Given the description of an element on the screen output the (x, y) to click on. 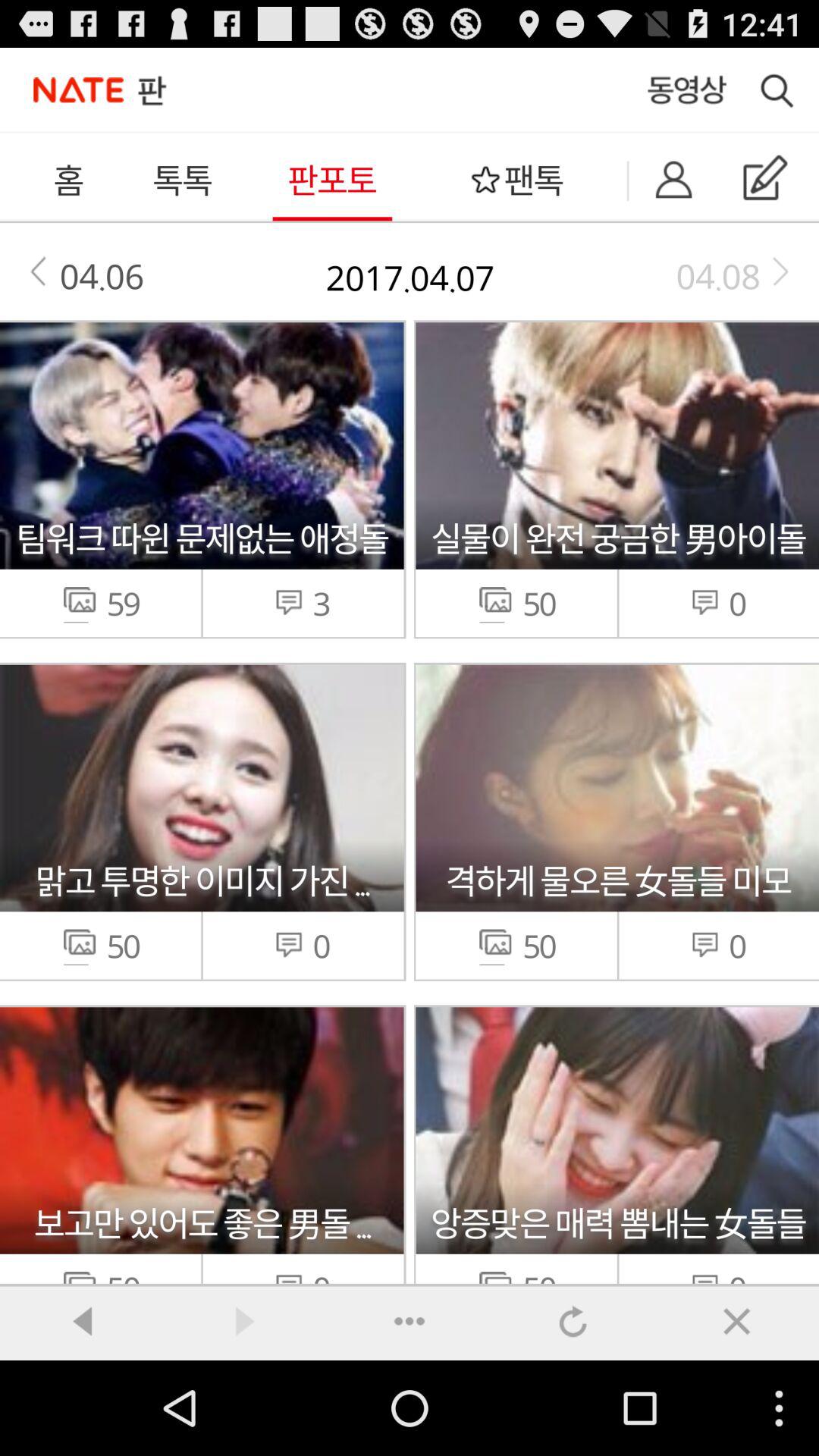
reload page (573, 1320)
